Given the description of an element on the screen output the (x, y) to click on. 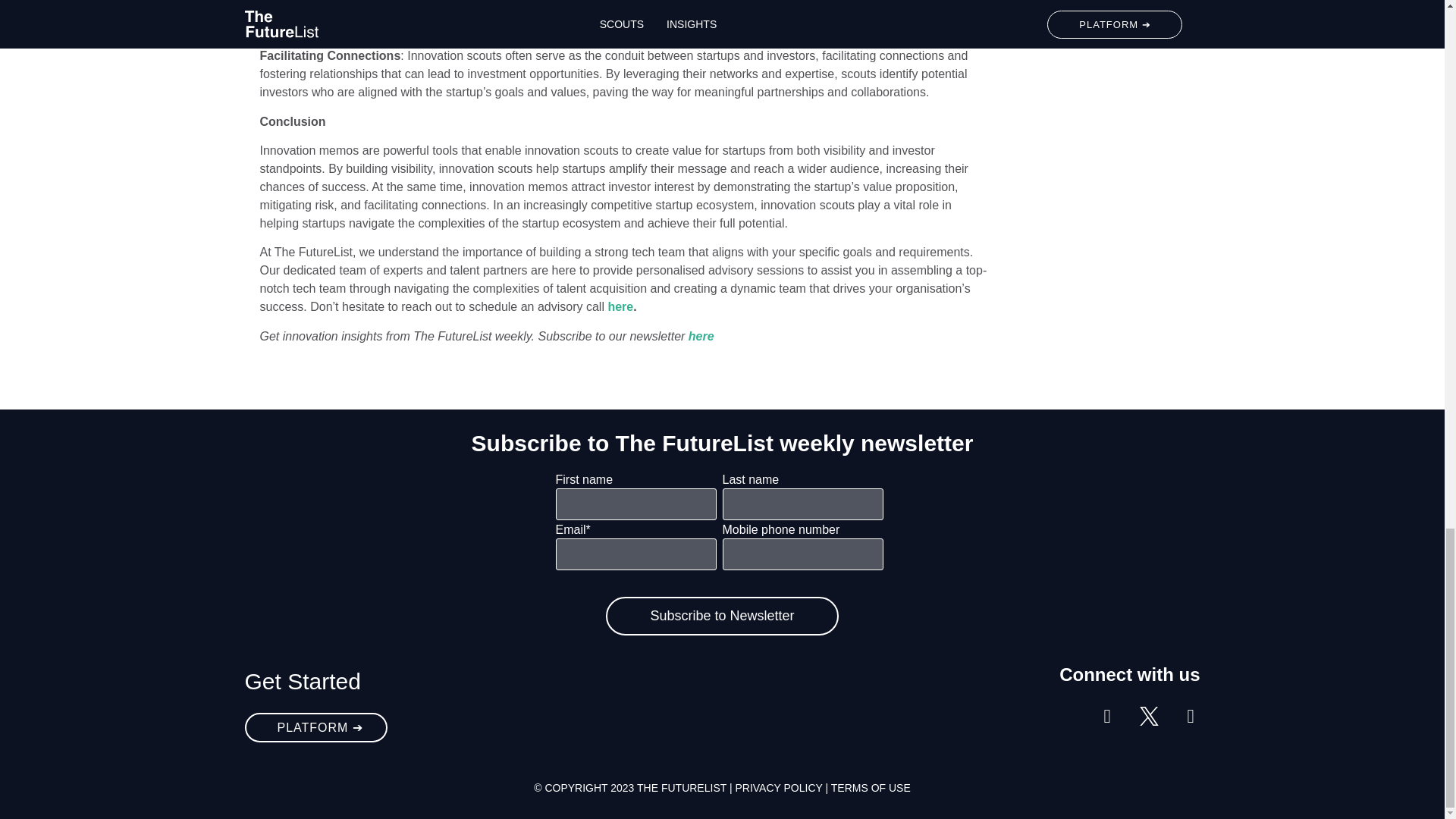
here (620, 306)
here (701, 336)
Subscribe to Newsletter (721, 616)
